Given the description of an element on the screen output the (x, y) to click on. 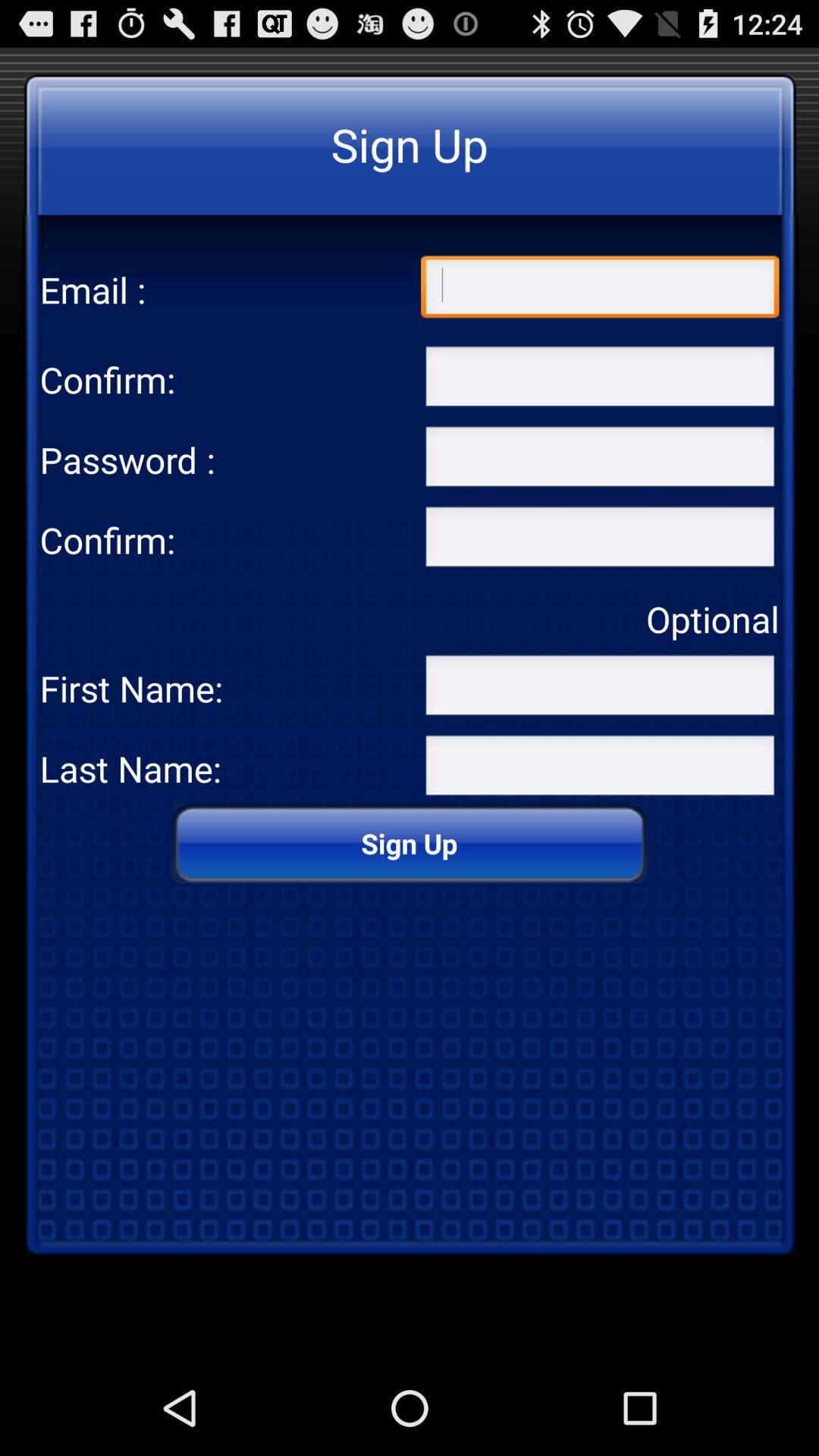
enter text in the last name field (599, 768)
